Given the description of an element on the screen output the (x, y) to click on. 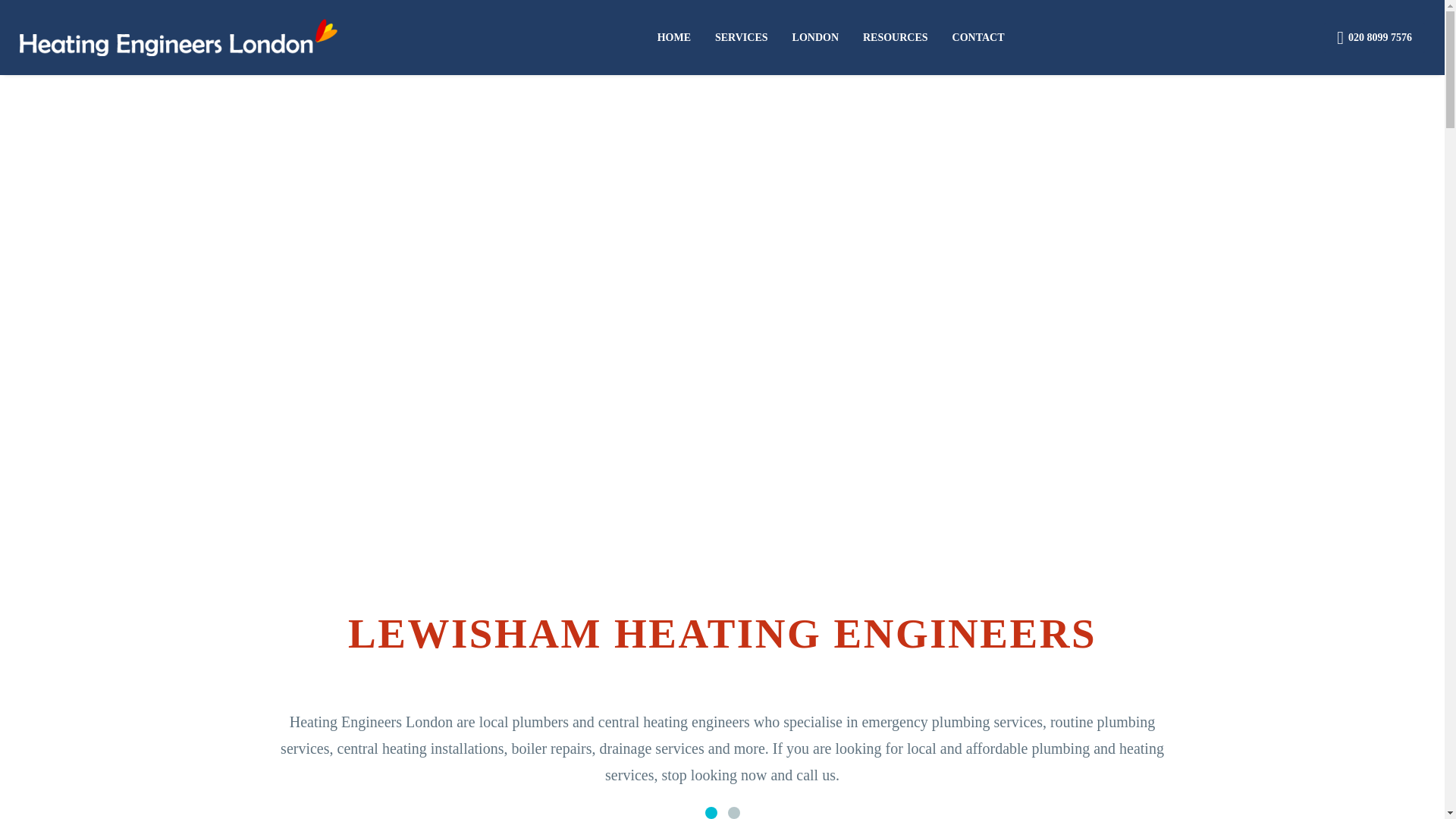
RESOURCES (895, 37)
HOME (674, 37)
CONTACT (978, 37)
SERVICES (741, 37)
LONDON (815, 37)
